Given the description of an element on the screen output the (x, y) to click on. 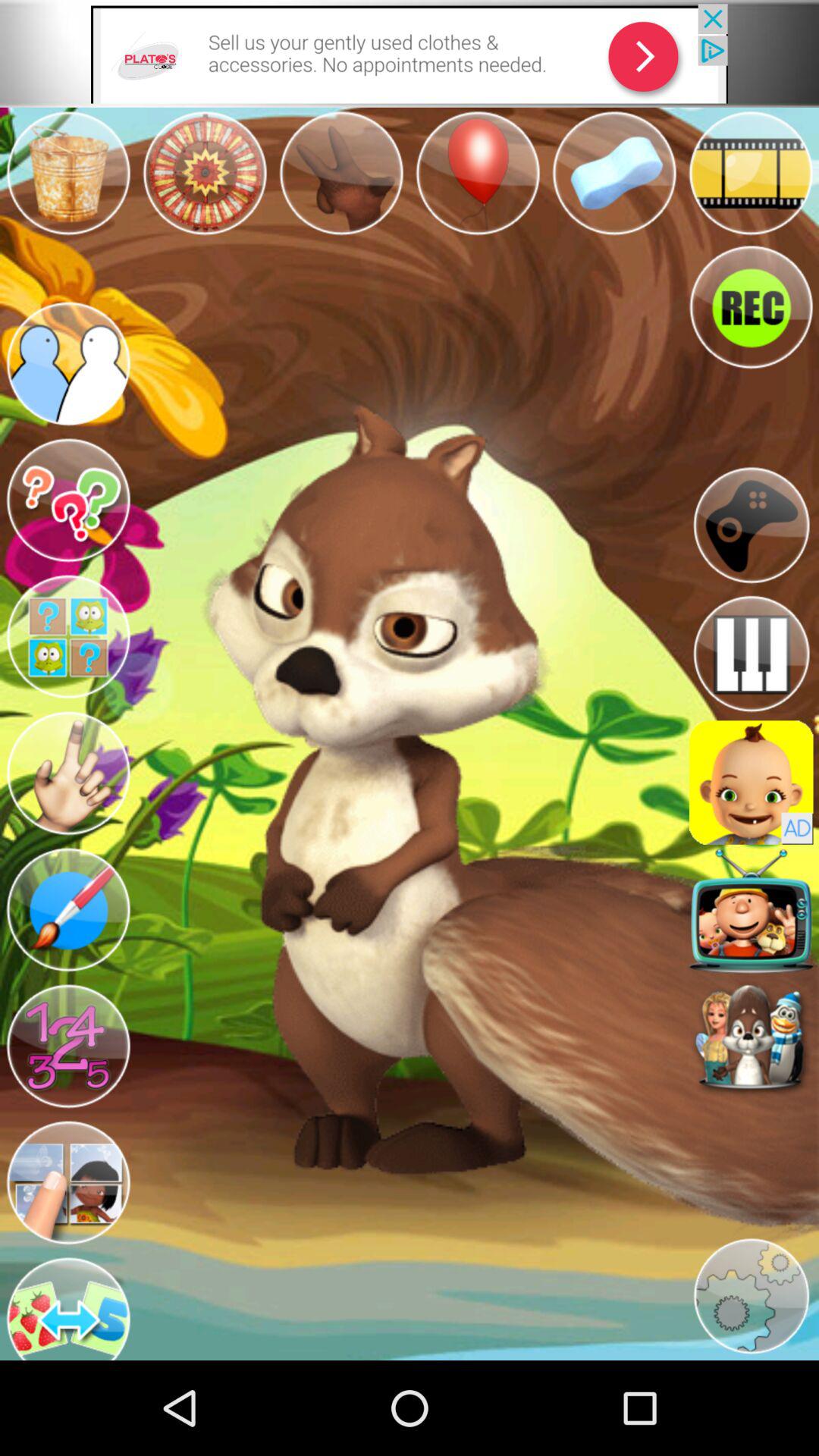
open the game options (751, 525)
